Given the description of an element on the screen output the (x, y) to click on. 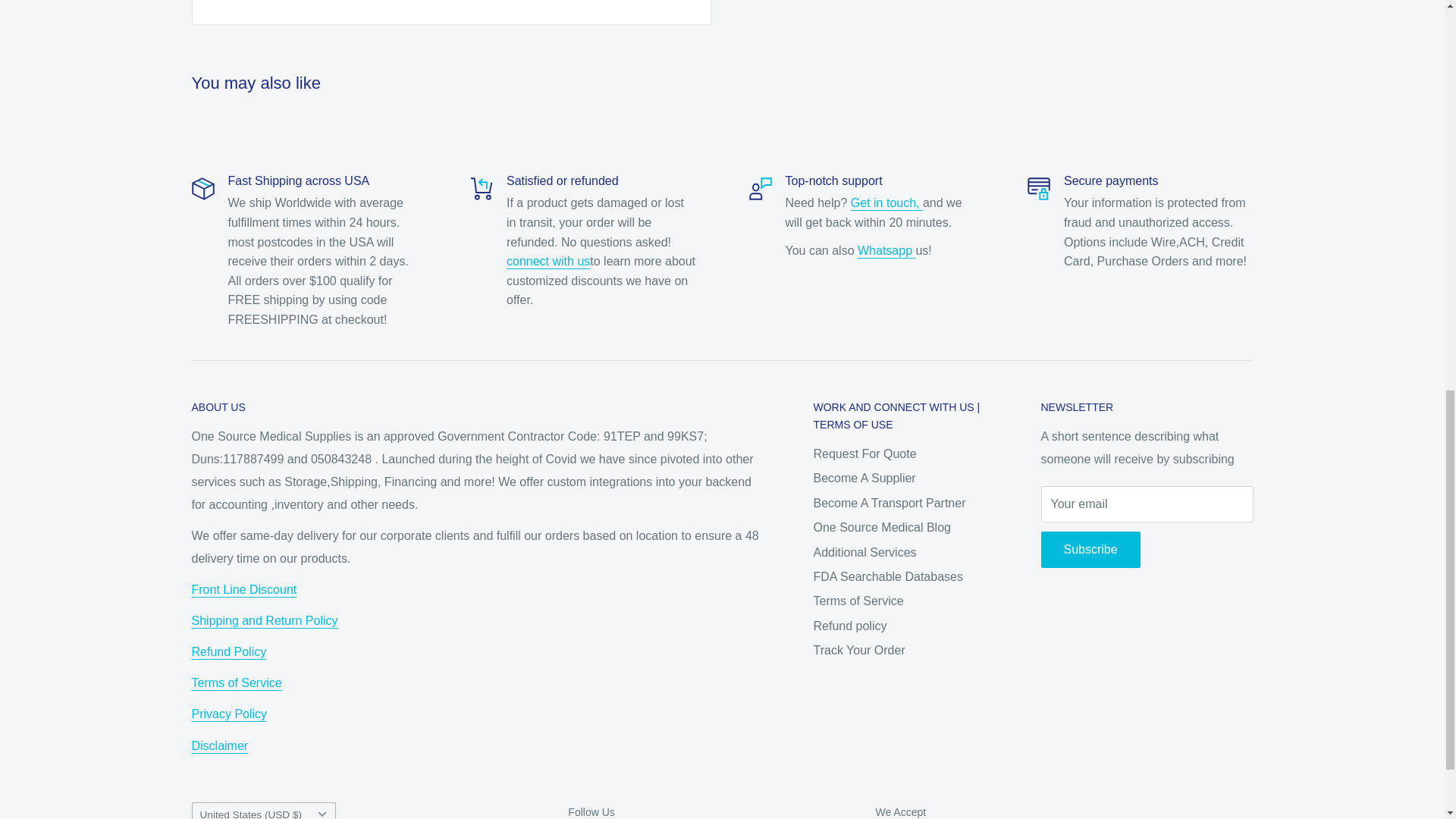
Terms of Service (235, 682)
Refund Policy (228, 651)
Privacy Policy (228, 713)
